Given the description of an element on the screen output the (x, y) to click on. 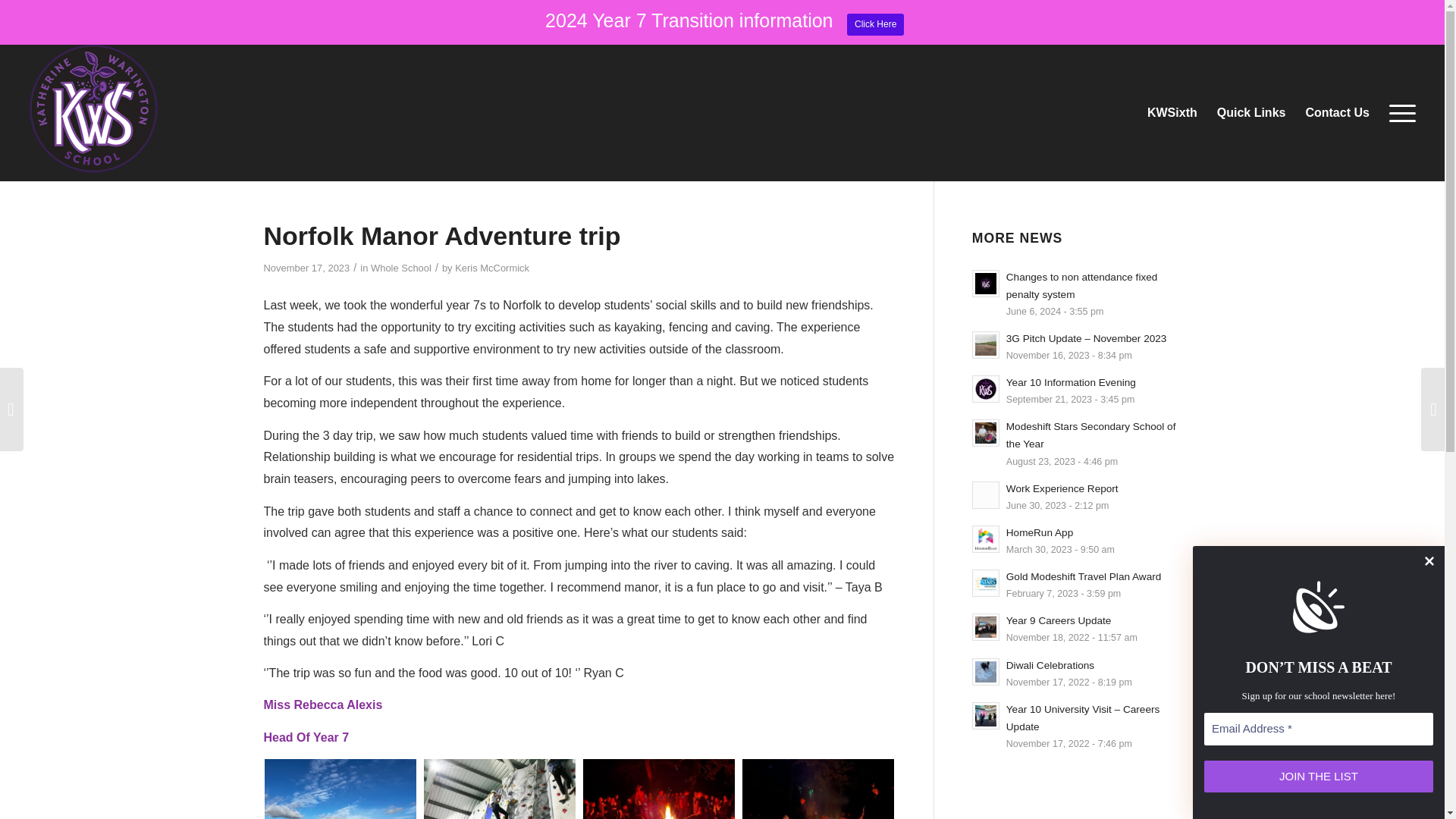
Search (47, 14)
Email Address (1318, 728)
JOIN THE LIST (1318, 776)
smlogo (93, 109)
Posts by Keris McCormick (491, 267)
